Given the description of an element on the screen output the (x, y) to click on. 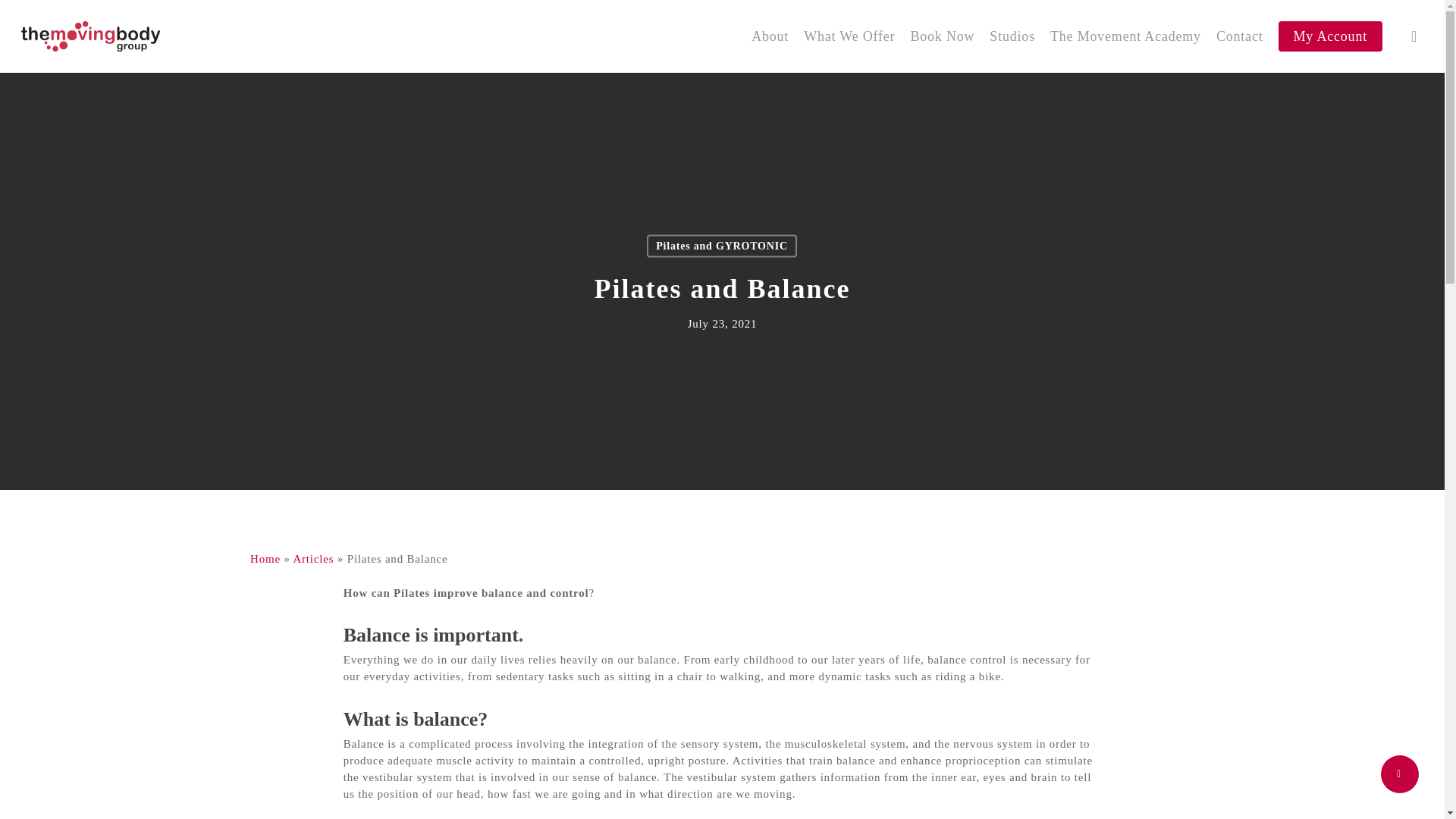
What We Offer (849, 36)
About (770, 36)
Contact (1239, 36)
Articles (312, 558)
My Account (1330, 36)
search (1414, 36)
Pilates and GYROTONIC (721, 246)
Home (265, 558)
The Movement Academy (1125, 36)
Studios (1012, 36)
Book Now (942, 36)
